Given the description of an element on the screen output the (x, y) to click on. 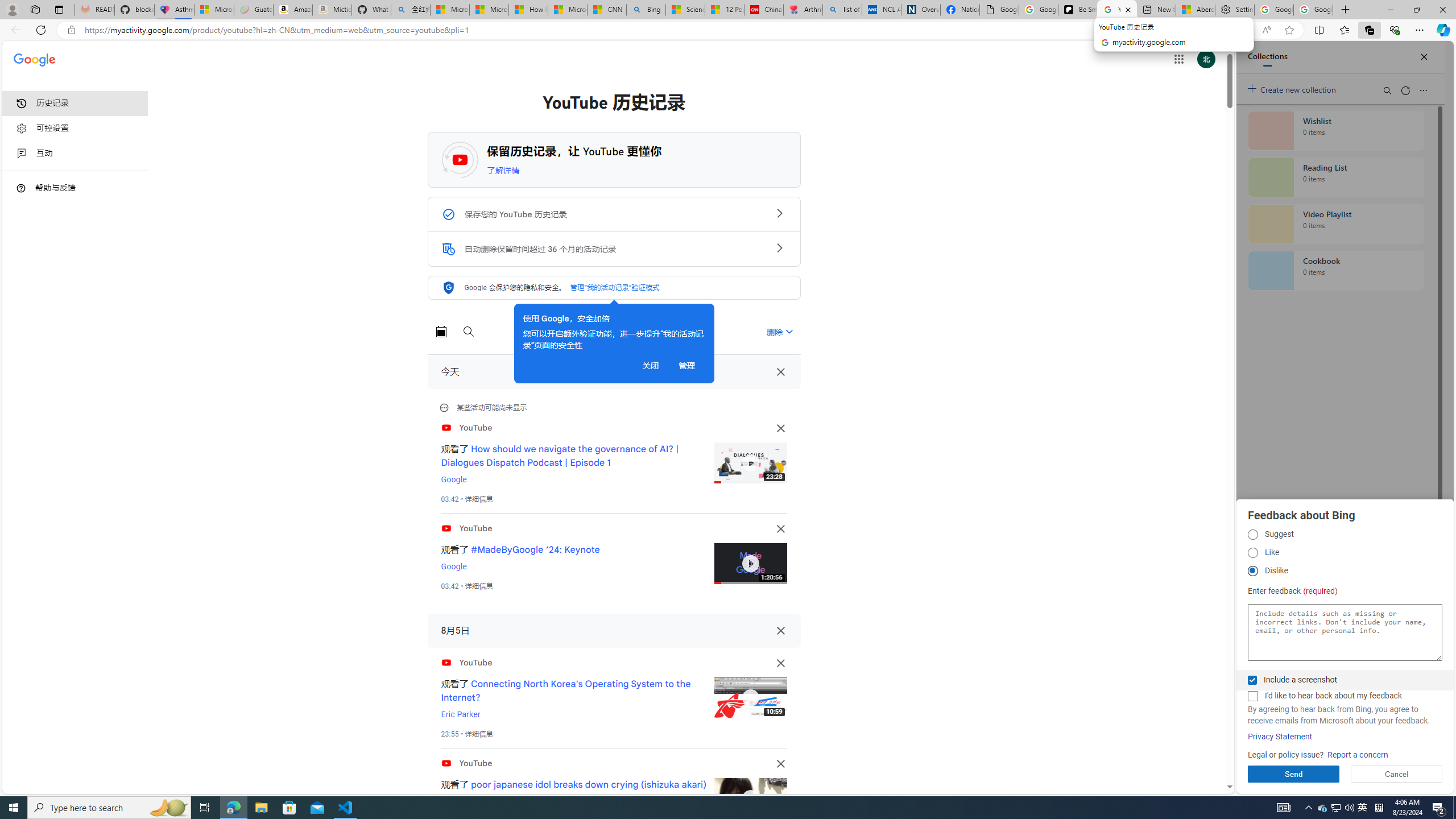
Send (1293, 773)
Bing (646, 9)
Cancel (1396, 773)
Aberdeen, Hong Kong SAR hourly forecast | Microsoft Weather (1195, 9)
